Given the description of an element on the screen output the (x, y) to click on. 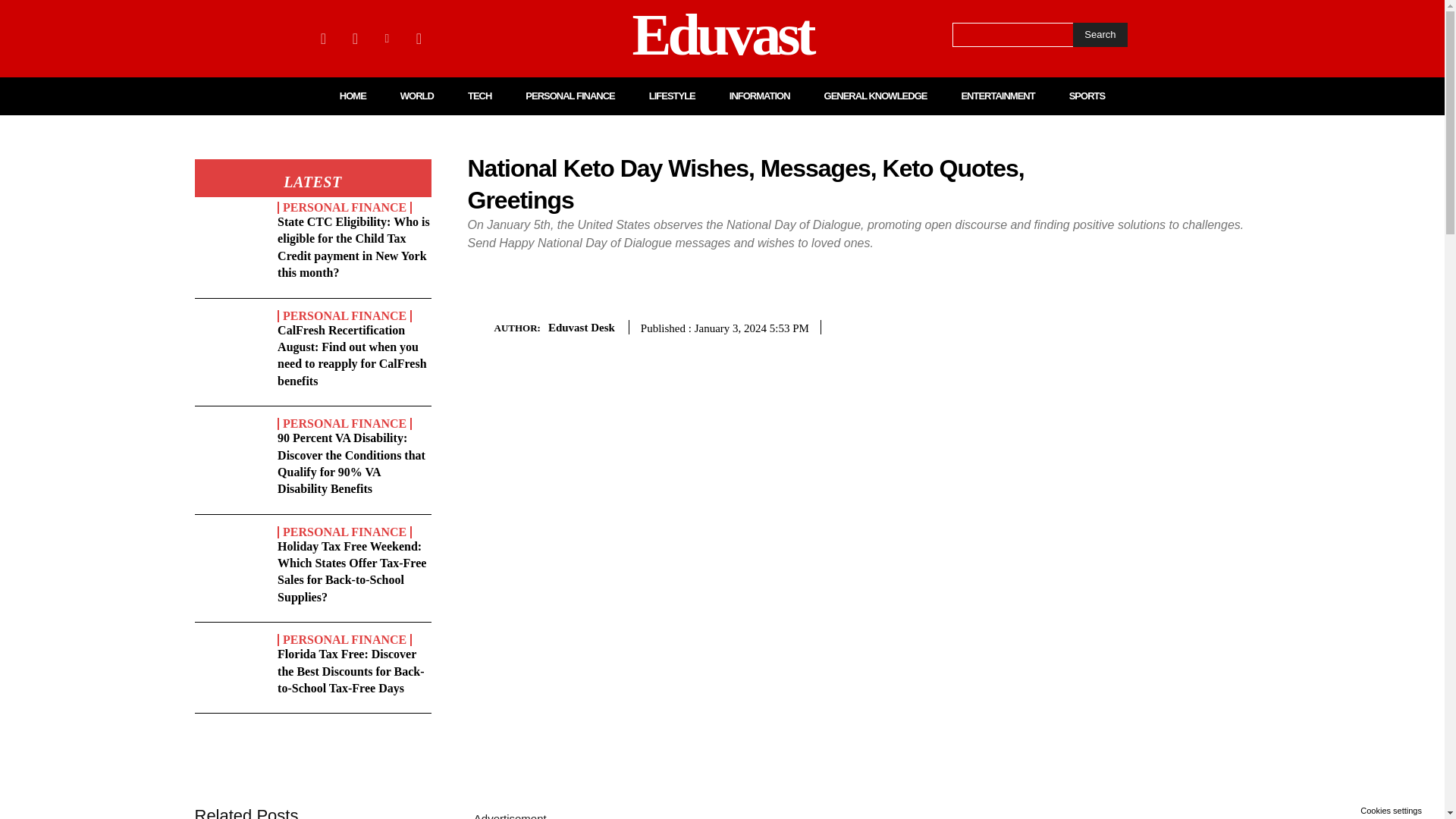
Search (1099, 34)
Instagram (354, 38)
Linkedin (386, 38)
PERSONAL FINANCE (345, 316)
PERSONAL FINANCE (345, 207)
SPORTS (1086, 95)
PERSONAL FINANCE (569, 95)
PERSONAL FINANCE (345, 423)
Facebook (322, 38)
GENERAL KNOWLEDGE (875, 95)
